Given the description of an element on the screen output the (x, y) to click on. 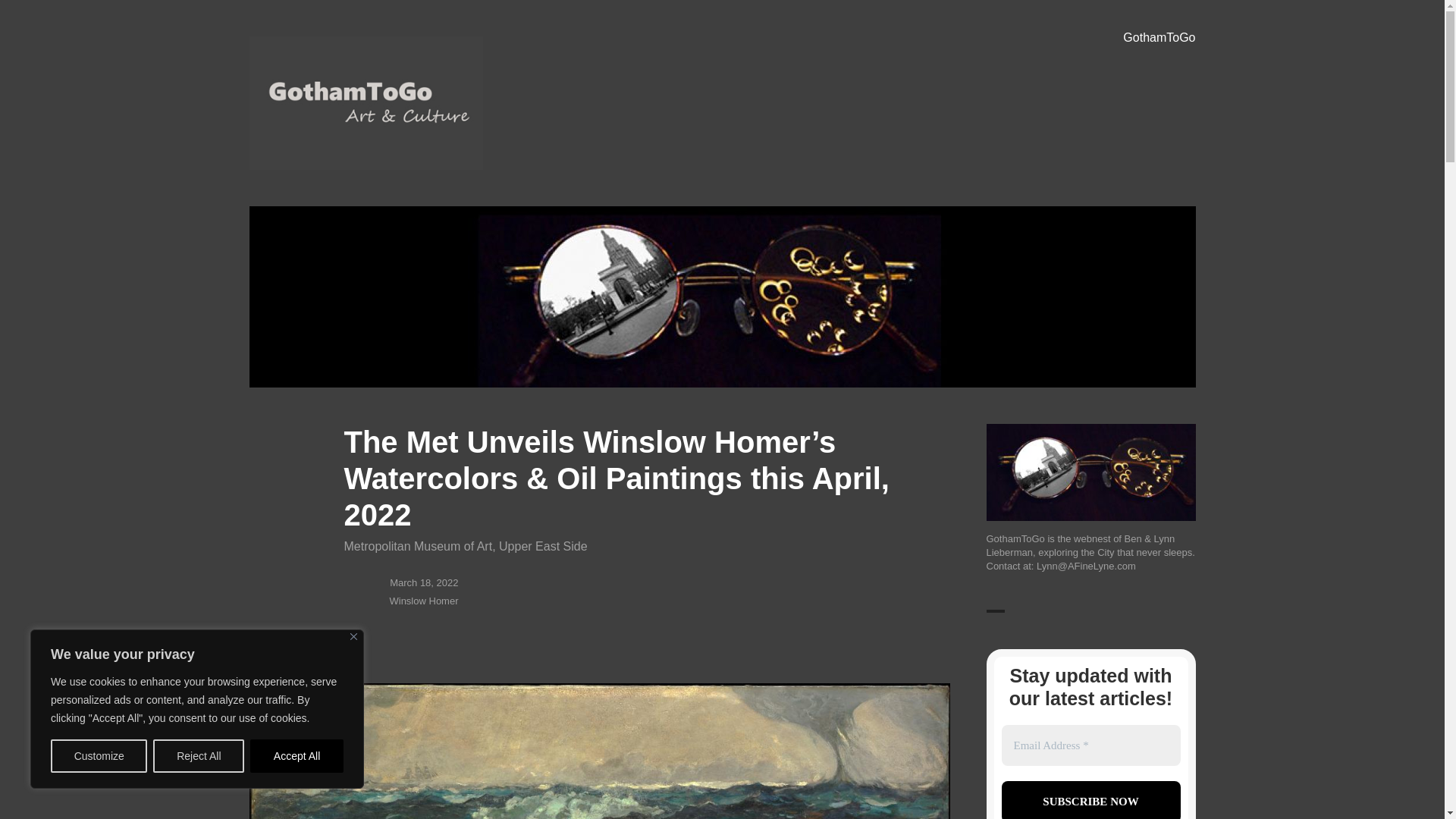
GothamToGo (1158, 37)
Reject All (198, 756)
Accept All (296, 756)
Customize (98, 756)
March 18, 2022 (424, 582)
GothamToGo (319, 191)
Metropolitan Museum of Art (418, 545)
Upper East Side (543, 545)
SUBSCRIBE NOW (1090, 800)
SUBSCRIBE NOW (1090, 800)
